Given the description of an element on the screen output the (x, y) to click on. 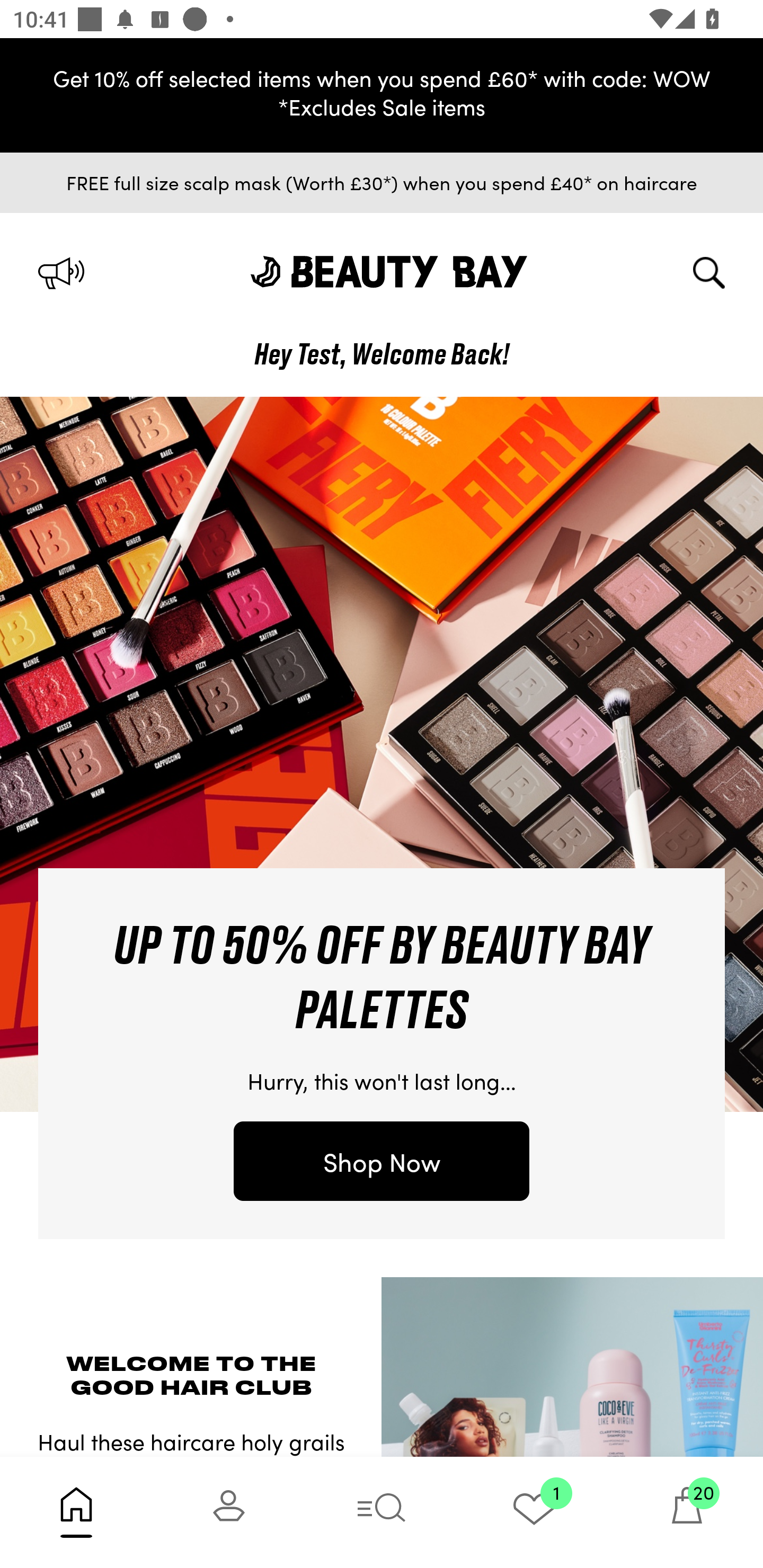
1 (533, 1512)
20 (686, 1512)
